Given the description of an element on the screen output the (x, y) to click on. 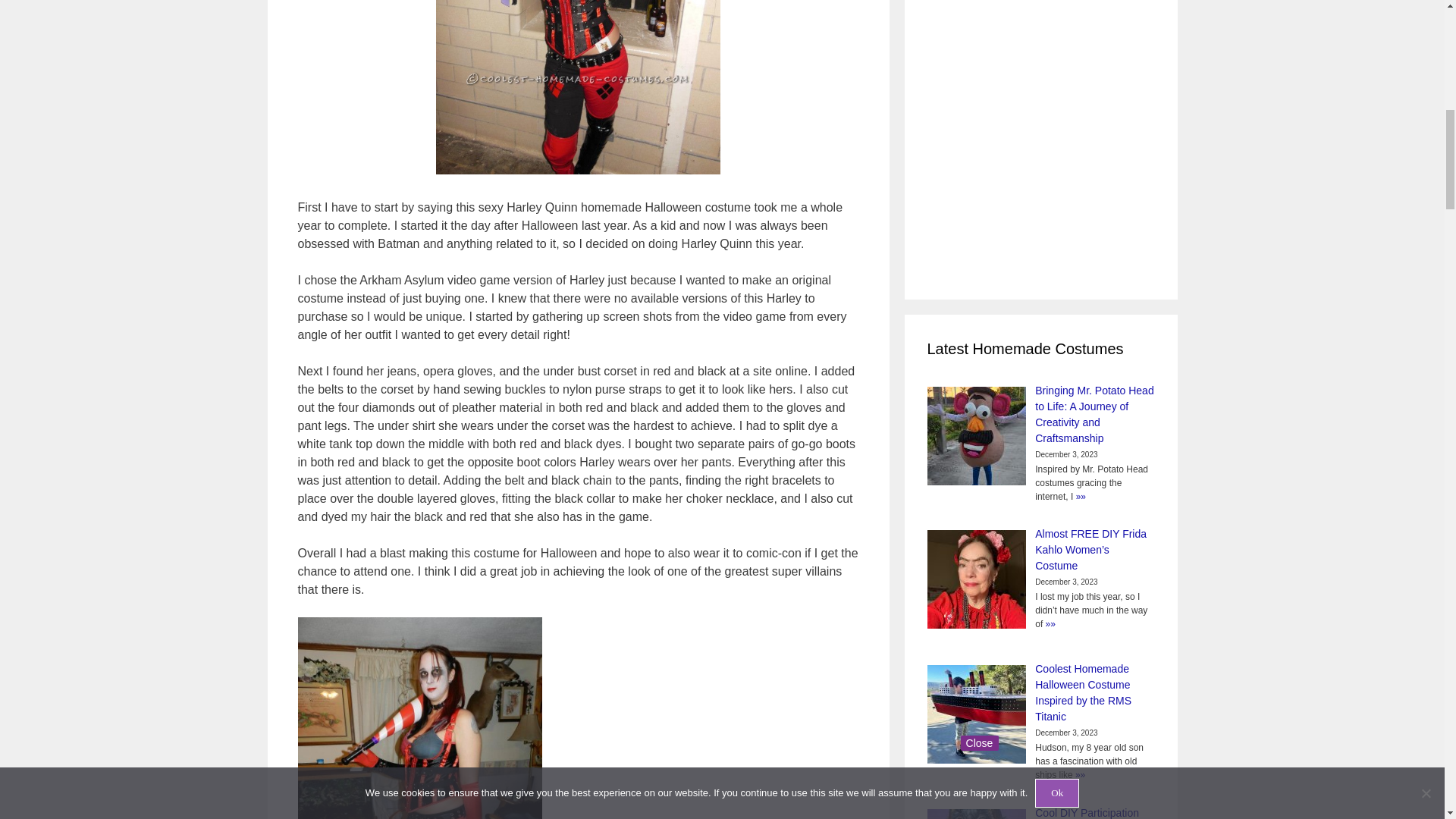
3rd party ad content (987, 138)
